Given the description of an element on the screen output the (x, y) to click on. 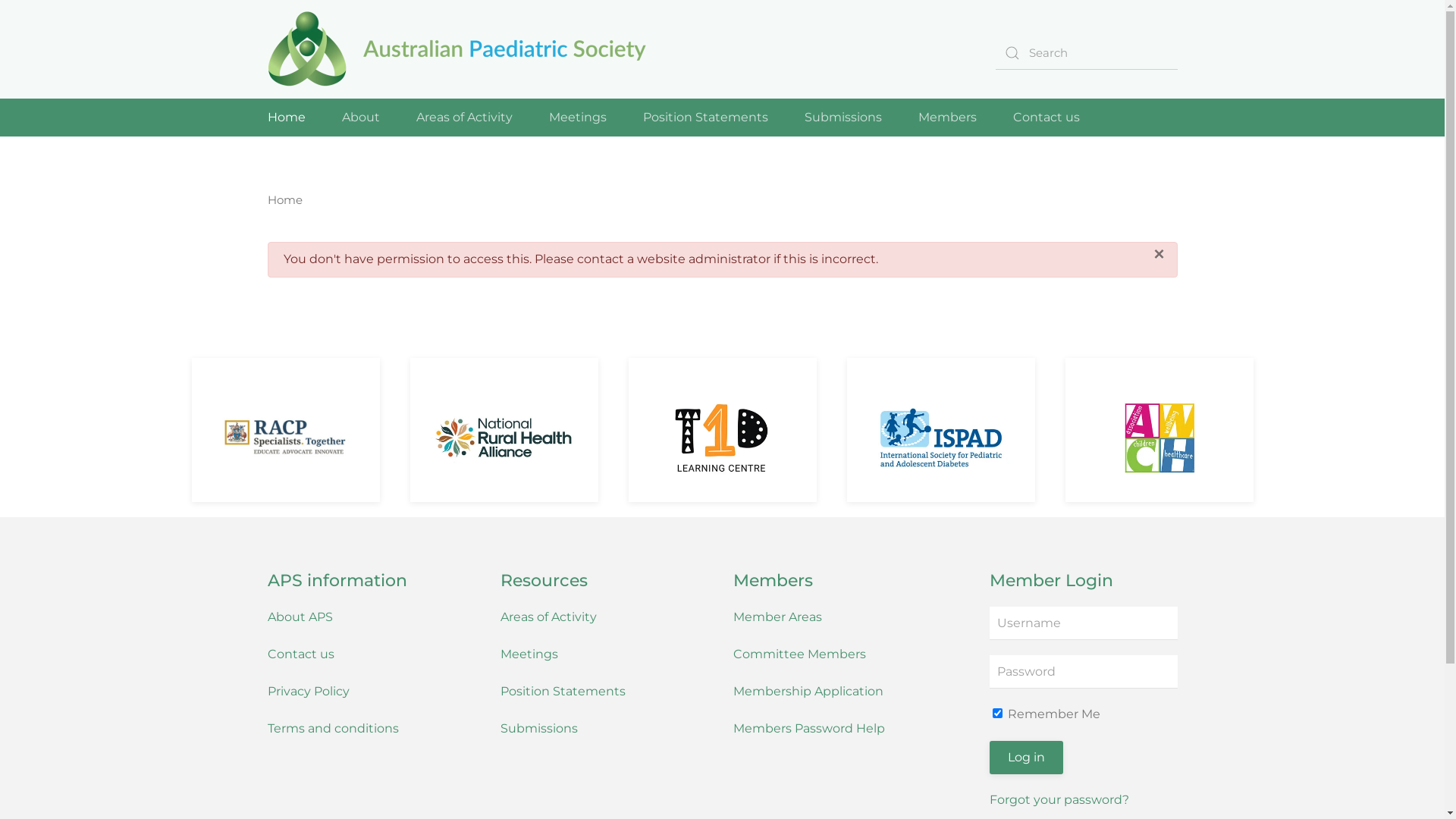
Contact us Element type: text (1046, 117)
Member Areas Element type: text (777, 616)
Membership Application Element type: text (808, 691)
Members Element type: text (946, 117)
Meetings Element type: text (529, 653)
Submissions Element type: text (538, 728)
Home Element type: text (285, 117)
Areas of Activity Element type: text (548, 616)
Members Password Help Element type: text (808, 728)
Committee Members Element type: text (799, 653)
Meetings Element type: text (577, 117)
Areas of Activity Element type: text (463, 117)
Privacy Policy Element type: text (307, 691)
Position Statements Element type: text (705, 117)
Submissions Element type: text (842, 117)
About APS Element type: text (299, 616)
Log in Element type: text (1026, 757)
Contact us Element type: text (299, 653)
Terms and conditions Element type: text (332, 728)
Position Statements Element type: text (562, 691)
Forgot your password? Element type: text (1059, 799)
About Element type: text (360, 117)
